Given the description of an element on the screen output the (x, y) to click on. 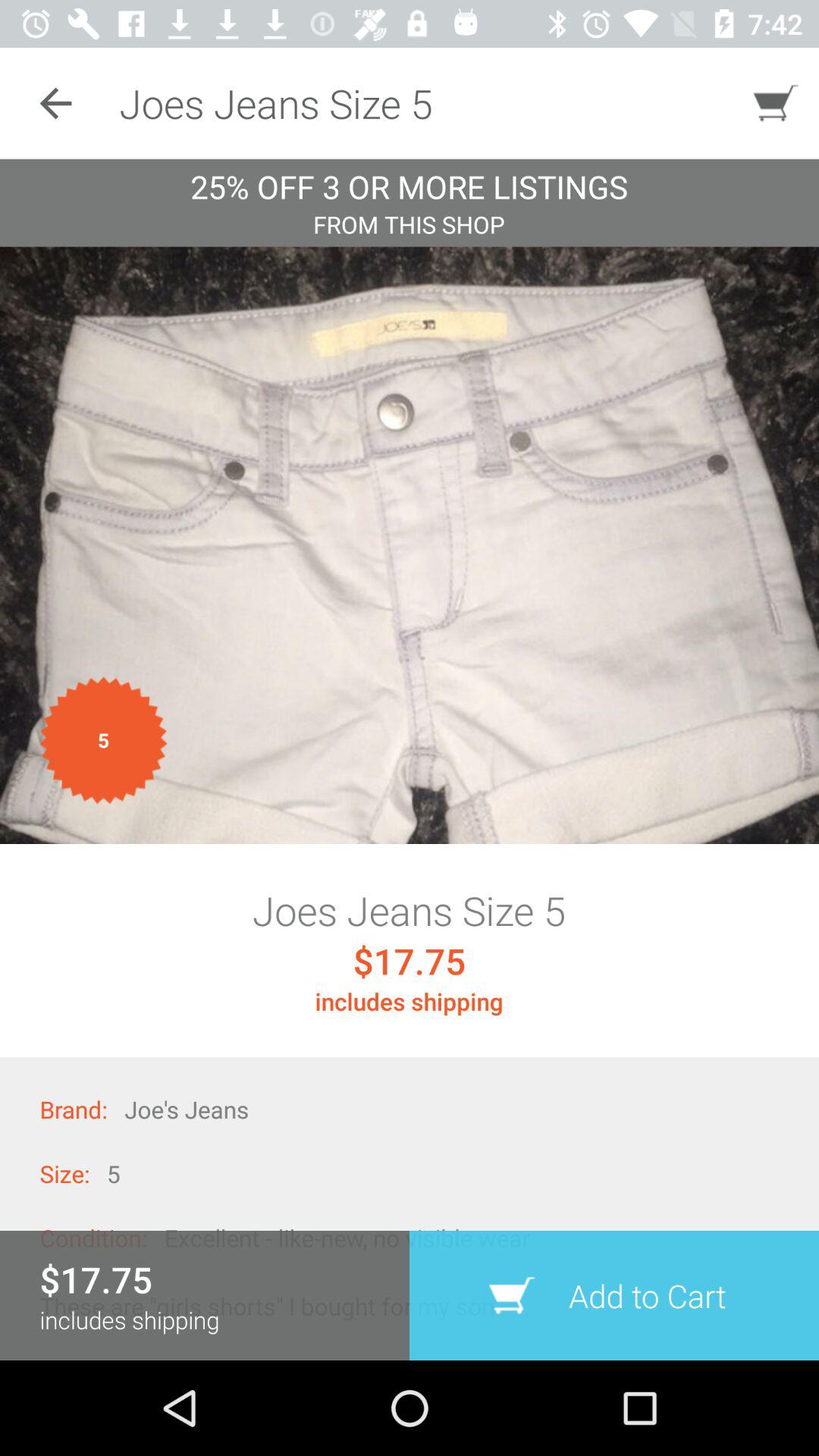
tap the icon below the includes shipping (614, 1295)
